Given the description of an element on the screen output the (x, y) to click on. 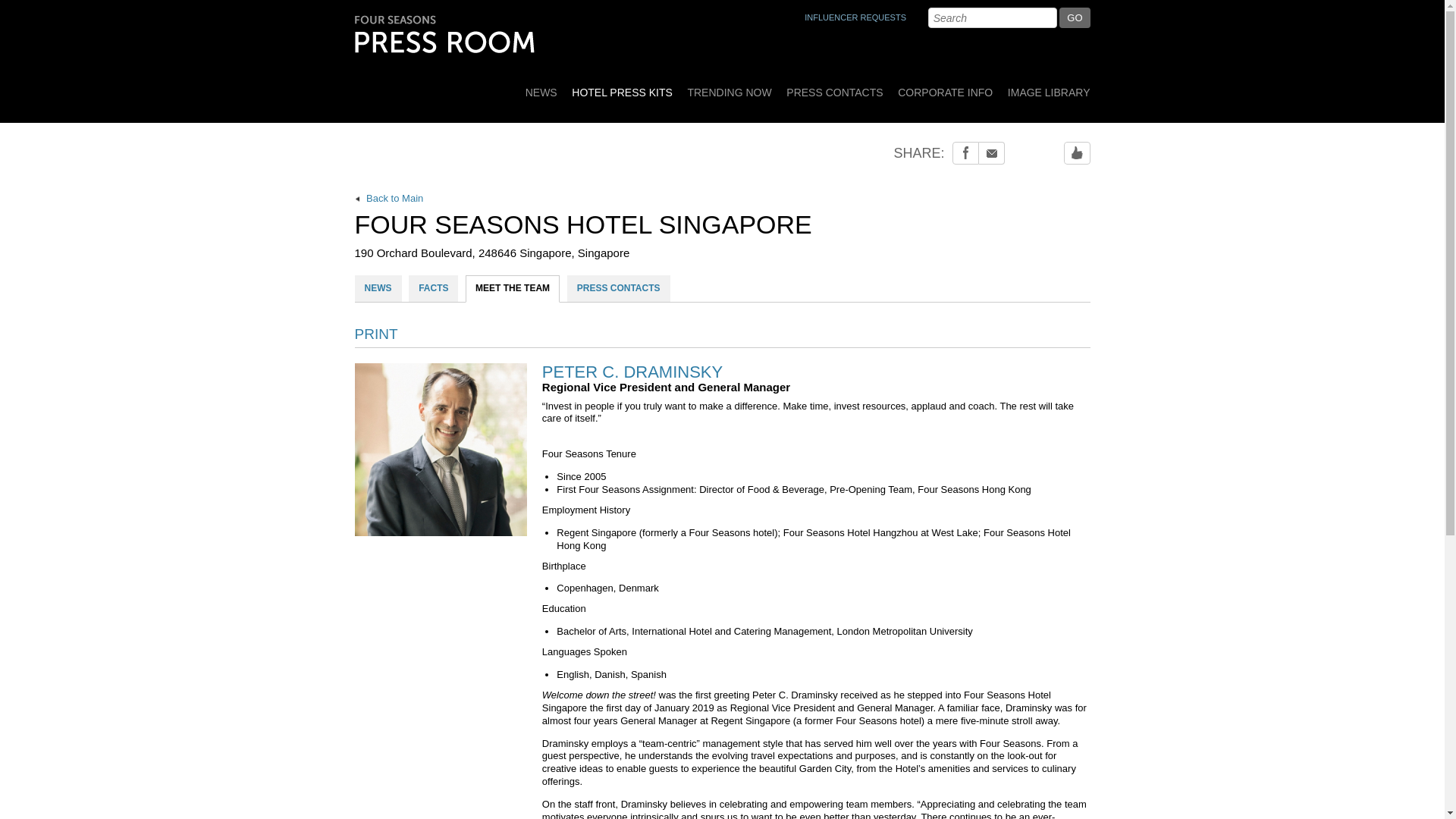
FACTS (433, 288)
PRESS CONTACTS (834, 87)
MEET THE TEAM (512, 288)
IMAGE LIBRARY (1045, 87)
NEWS (541, 87)
CORPORATE INFO (944, 87)
GO (1074, 17)
Back to Main (722, 198)
PRINT (376, 334)
GO (1074, 17)
PRESS CONTACTS (618, 288)
NEWS (378, 288)
INFLUENCER REQUESTS (855, 17)
HOTEL PRESS KITS (622, 87)
TRENDING NOW (729, 87)
